Given the description of an element on the screen output the (x, y) to click on. 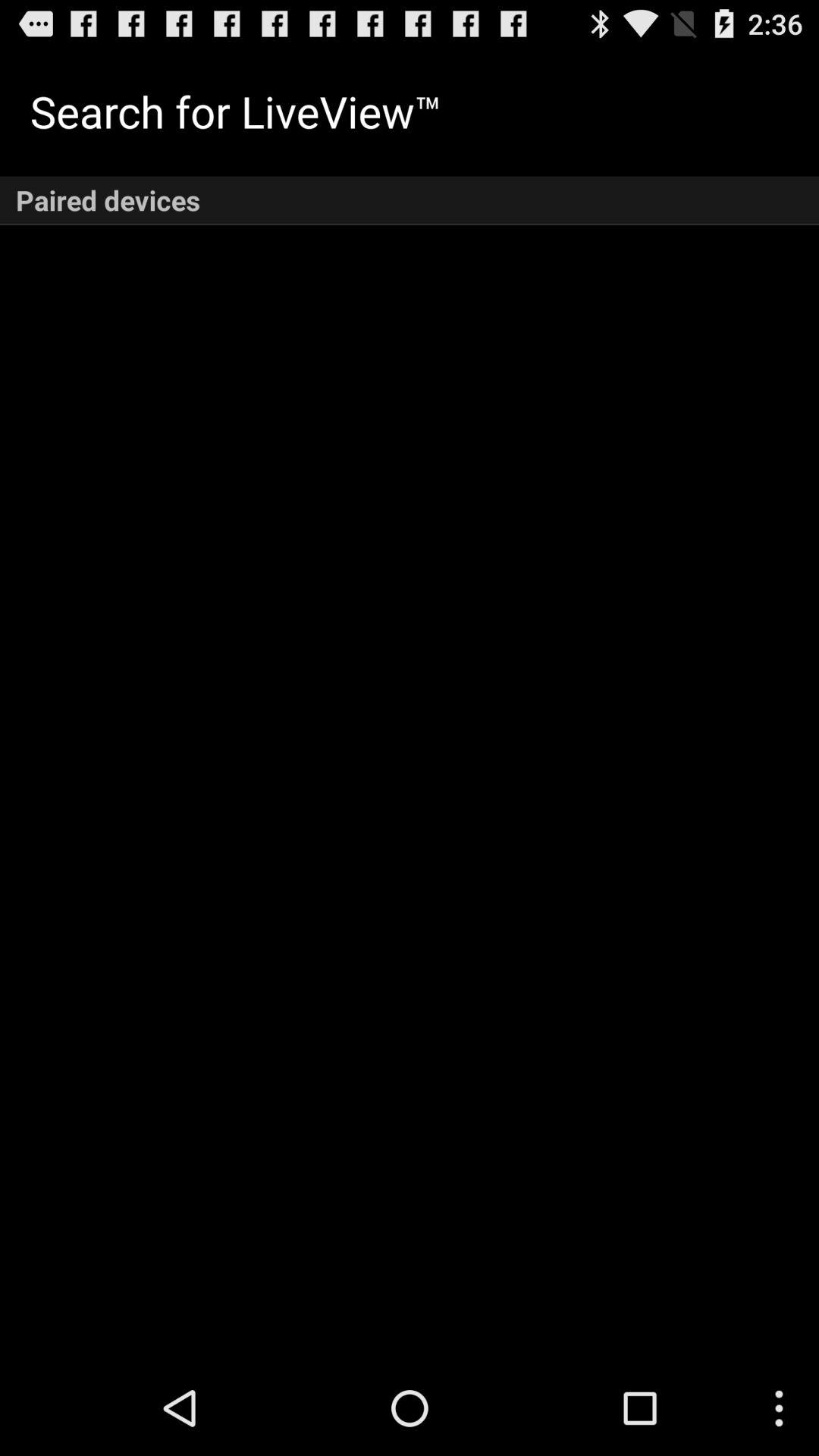
turn on icon above paired devices (235, 110)
